Given the description of an element on the screen output the (x, y) to click on. 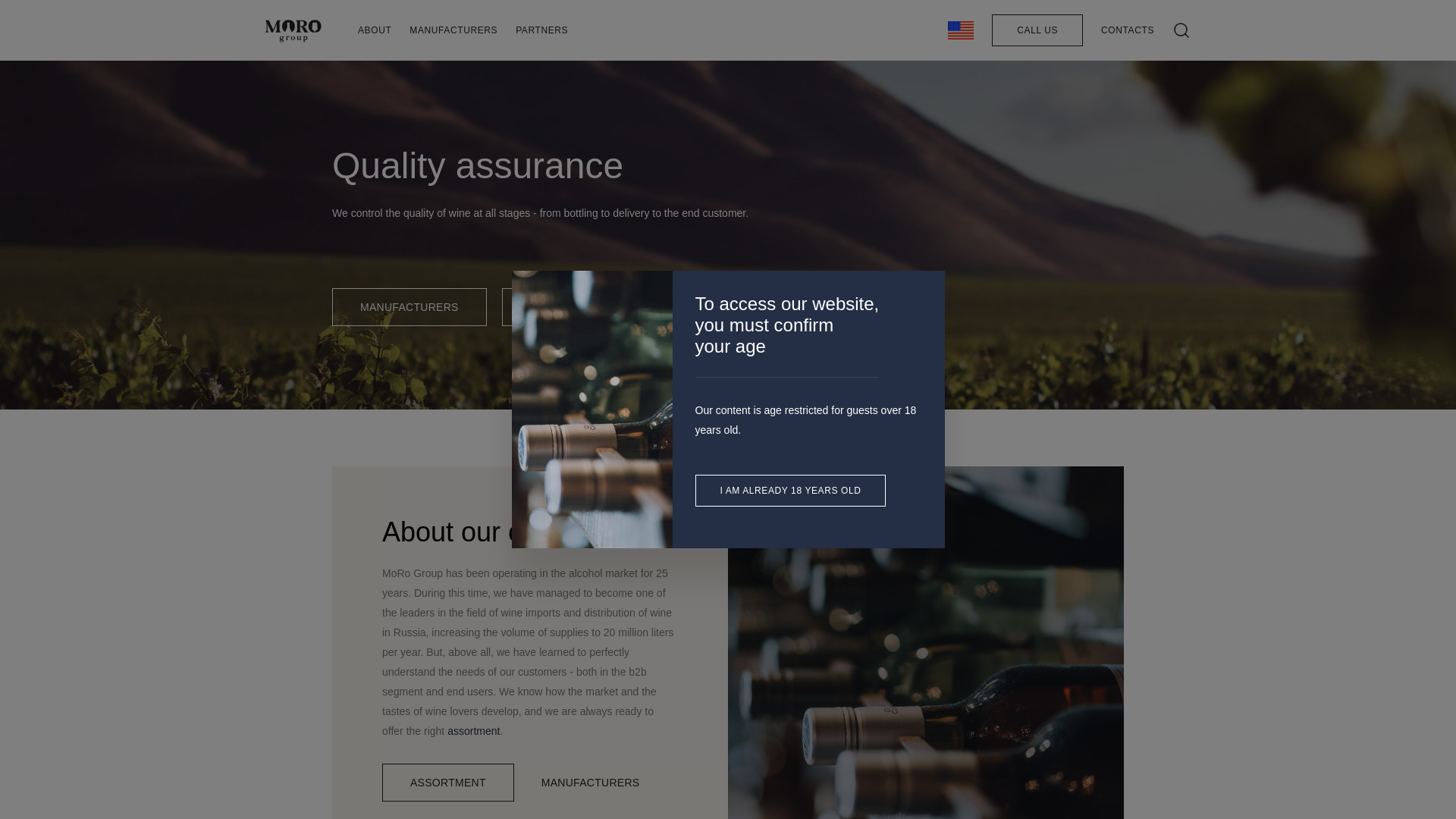
MANUFACTURERS (453, 30)
MANUFACTURERS (590, 782)
PARTNERS (541, 30)
assortment (472, 730)
ABOUT (374, 30)
MANUFACTURERS (408, 306)
Search (1000, 91)
ASSORTMENT (567, 306)
ASSORTMENT (447, 782)
CONTACTS (1127, 30)
